Given the description of an element on the screen output the (x, y) to click on. 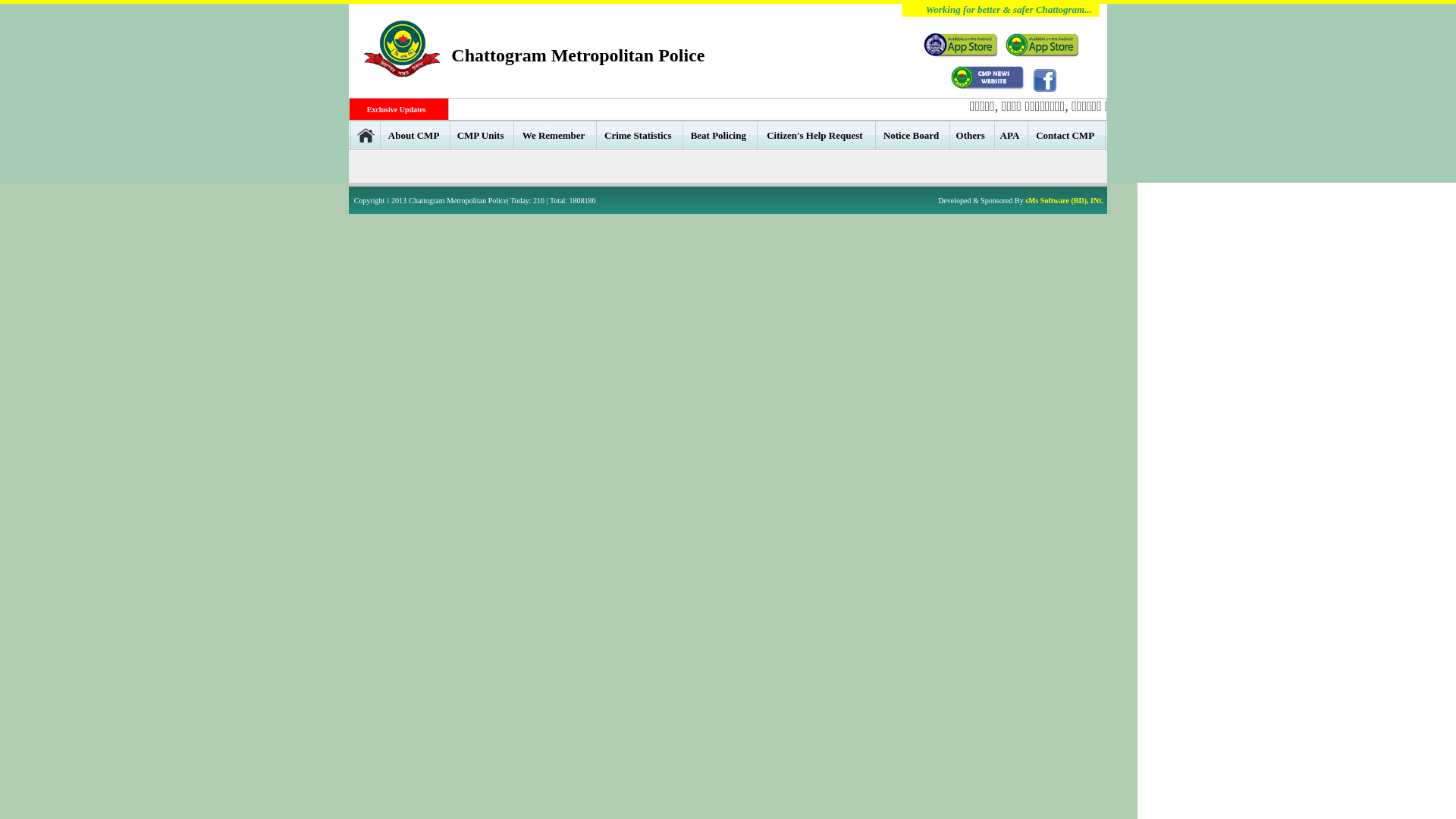
Citizen's Help Request Element type: text (815, 134)
We Remember Element type: text (555, 134)
About CMP Element type: text (415, 134)
Crime Statistics Element type: text (639, 134)
Others Element type: text (971, 134)
APA Element type: text (1011, 134)
Contact CMP Element type: text (1066, 134)
CMP Units Element type: text (482, 134)
Notice Board Element type: text (912, 134)
sMs Software (BD), INt. Element type: text (1064, 200)
Beat Policing Element type: text (719, 134)
Chattogram Metropolitan Police| Today: 216 | Total: 1808186 Element type: text (501, 199)
